Given the description of an element on the screen output the (x, y) to click on. 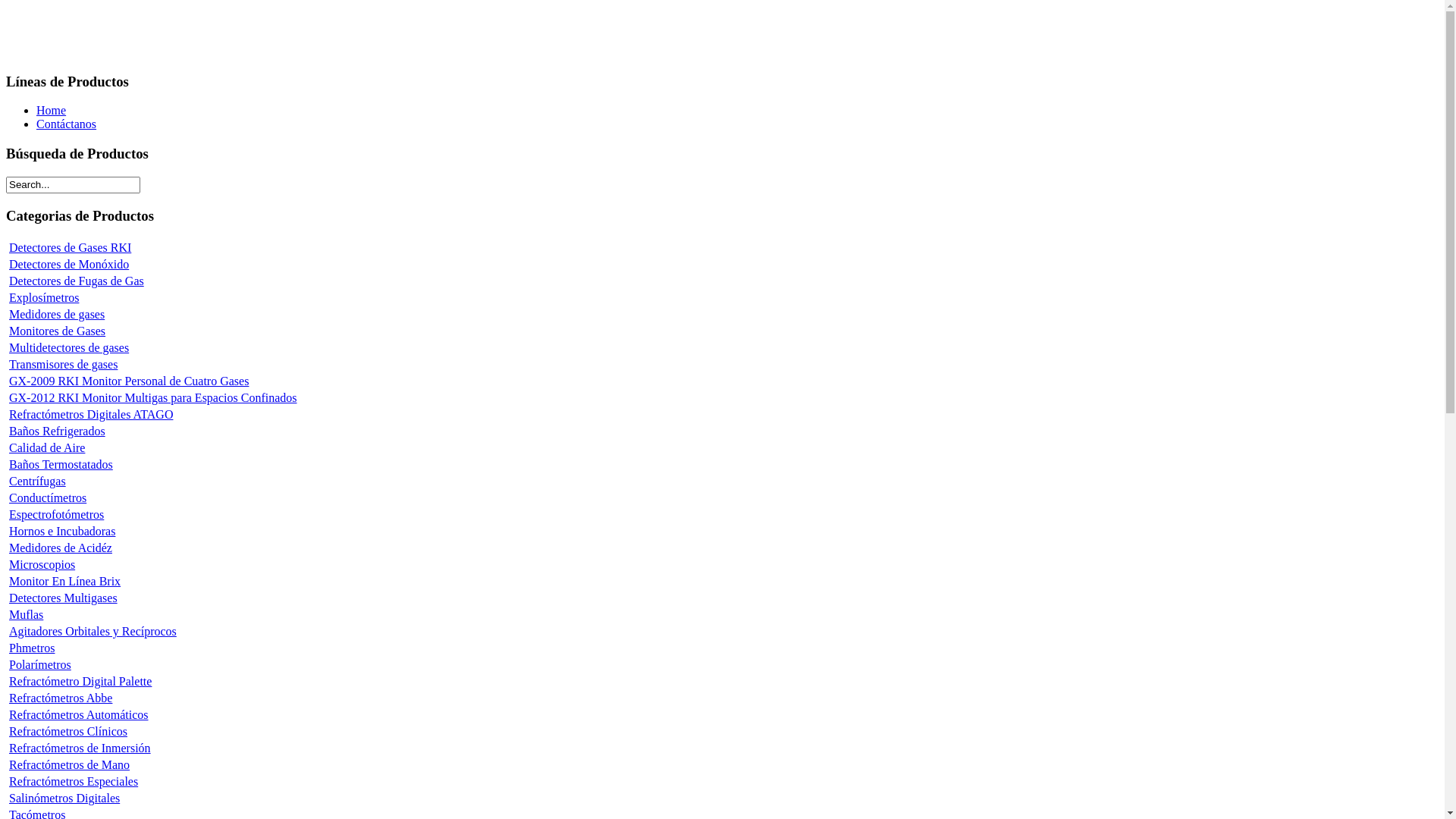
Medidores de gases Element type: text (56, 313)
Detectores de Fugas de Gas Element type: text (76, 280)
Transmisores de gases Element type: text (63, 363)
Monitores de Gases Element type: text (57, 330)
Hornos e Incubadoras Element type: text (62, 530)
Muflas Element type: text (26, 614)
Detectores de Gases RKI Element type: text (70, 247)
Home Element type: text (50, 109)
Detectores Multigases Element type: text (63, 597)
GX-2009 RKI Monitor Personal de Cuatro Gases Element type: text (128, 380)
Microscopios Element type: text (42, 564)
GX-2012 RKI Monitor Multigas para Espacios Confinados Element type: text (153, 397)
Phmetros Element type: text (31, 647)
Calidad de Aire Element type: text (46, 447)
Multidetectores de gases Element type: text (68, 347)
